Given the description of an element on the screen output the (x, y) to click on. 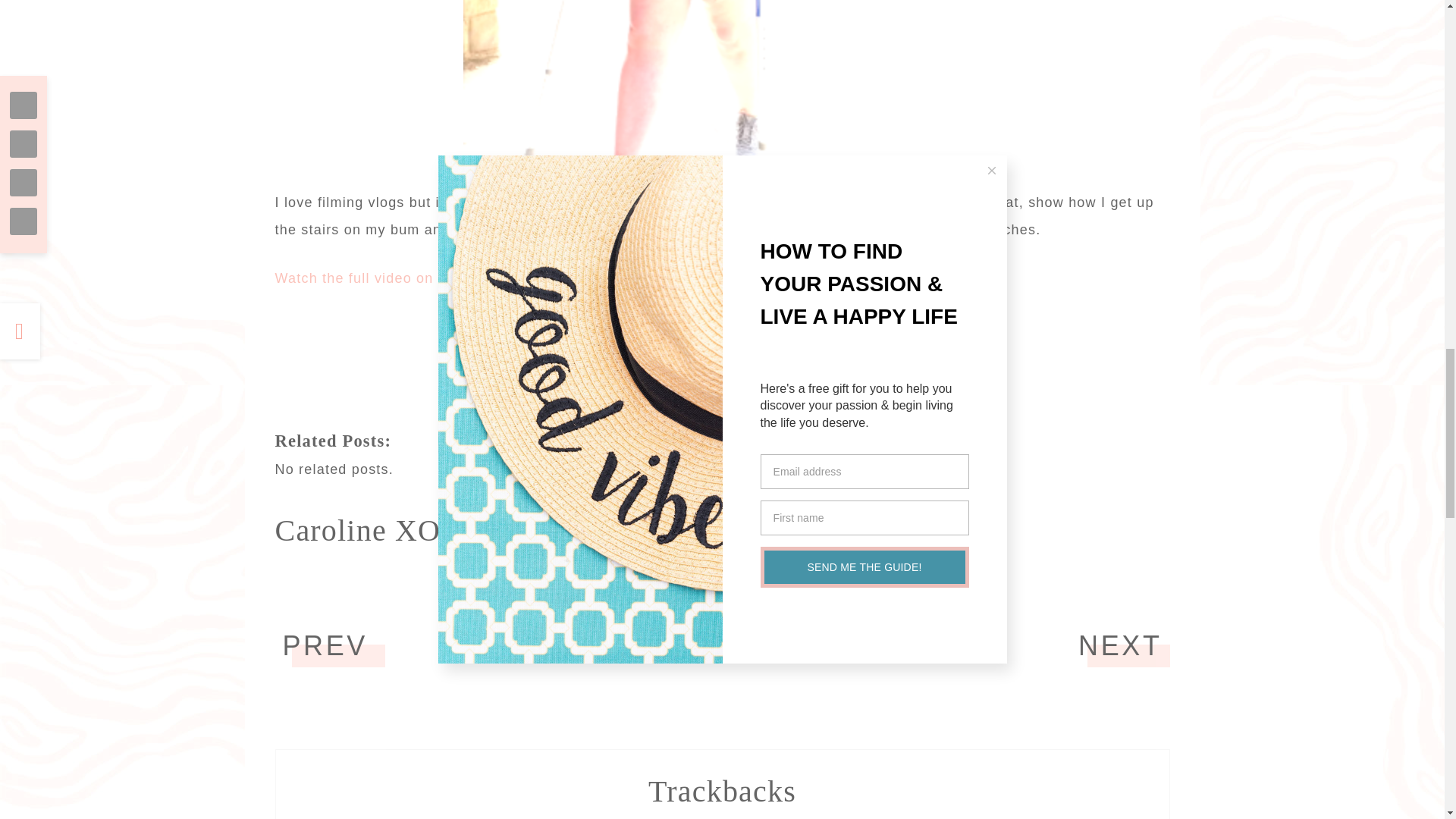
Watch the full video on my YouTube channel here, (448, 278)
A DAY IN THE LIFE (698, 575)
SIGN UP! (931, 341)
Built with ConvertKit (722, 386)
WEEKLY VLOG (834, 575)
VIDEO (772, 575)
NEXT (1119, 644)
PREV (324, 644)
